Given the description of an element on the screen output the (x, y) to click on. 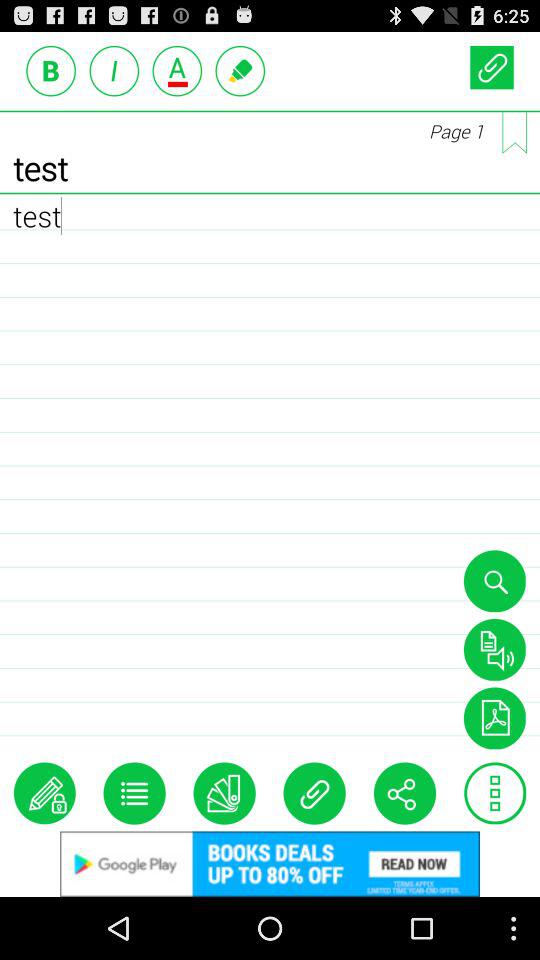
write notes (44, 793)
